Given the description of an element on the screen output the (x, y) to click on. 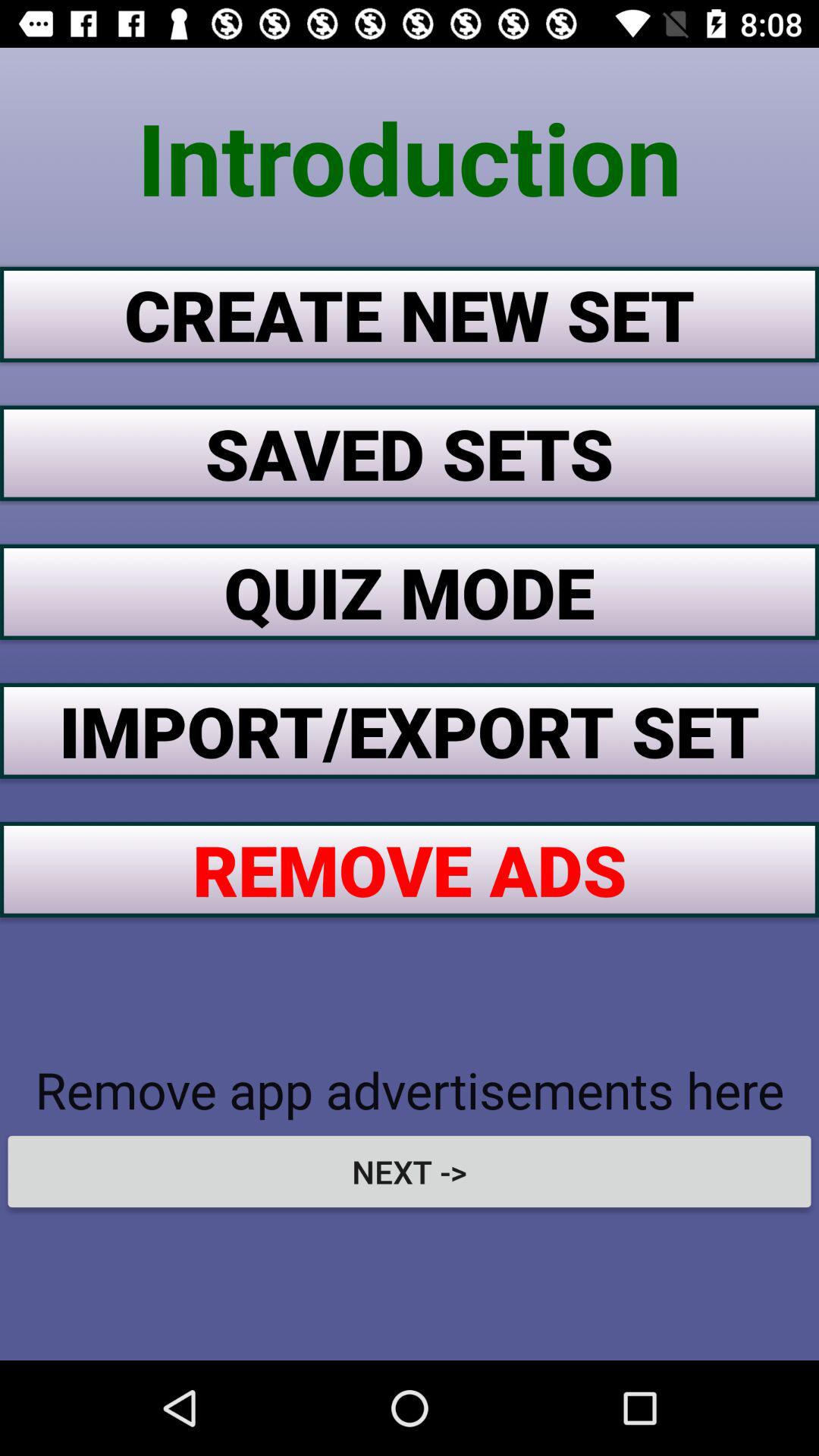
launch next -> (409, 1171)
